Given the description of an element on the screen output the (x, y) to click on. 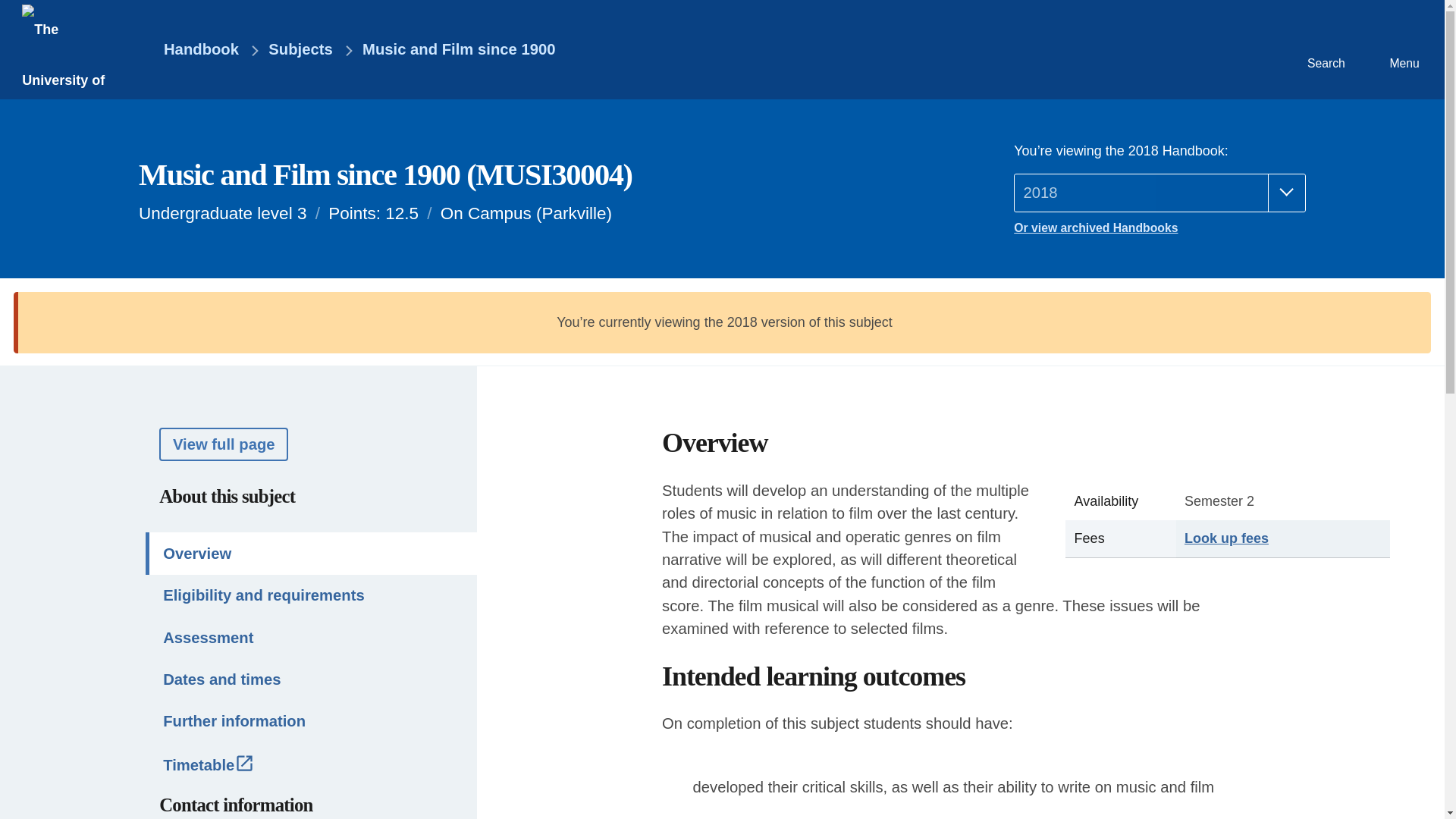
Dates and times (311, 679)
Search (1324, 49)
Subjects (299, 49)
Assessment (311, 637)
Further information (311, 721)
Music and Film since 1900 (458, 49)
View full page (223, 443)
Eligibility and requirements (311, 595)
Overview (311, 553)
Look up fees (1226, 538)
